Given the description of an element on the screen output the (x, y) to click on. 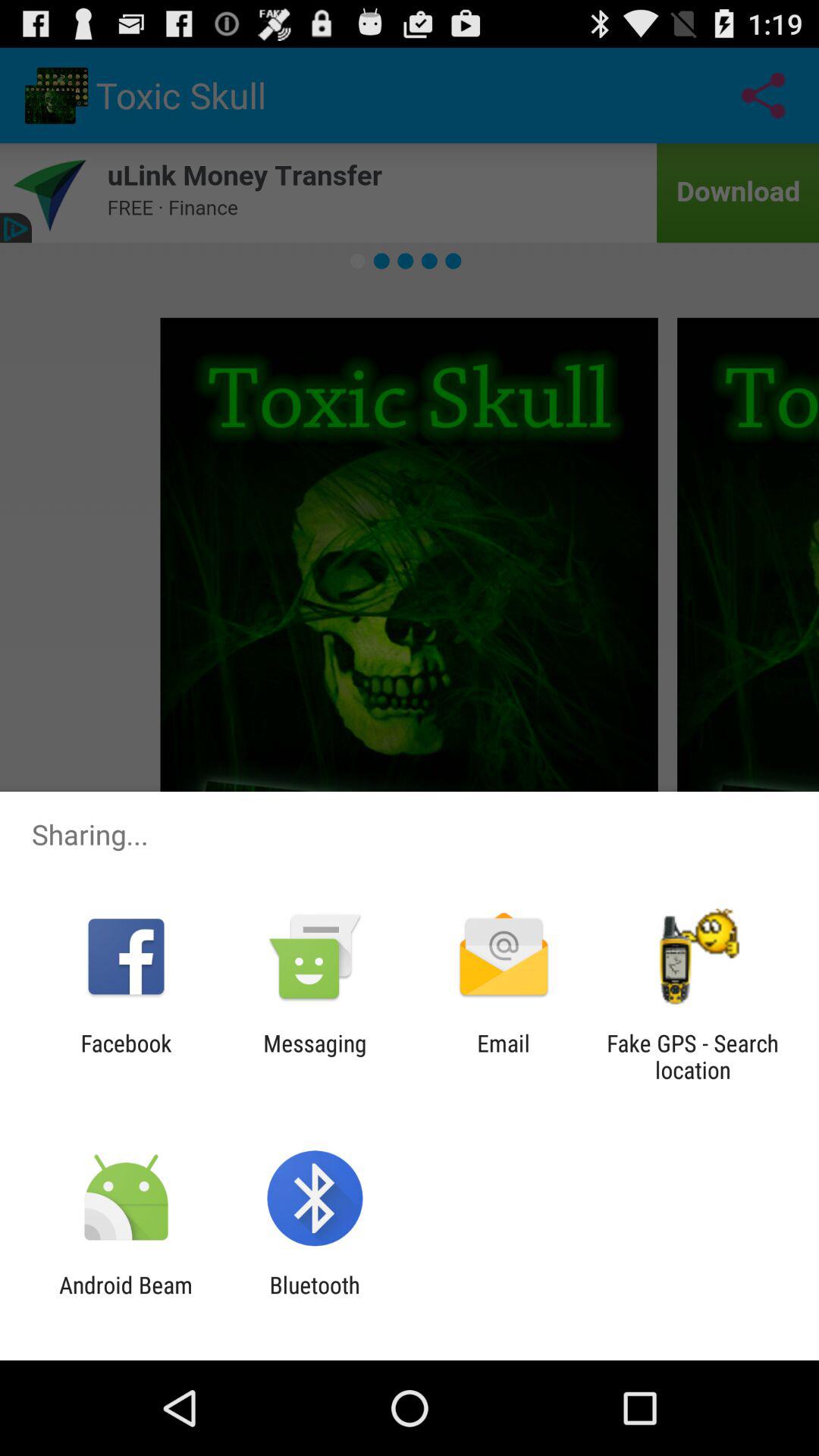
turn on the app next to the facebook (314, 1056)
